Given the description of an element on the screen output the (x, y) to click on. 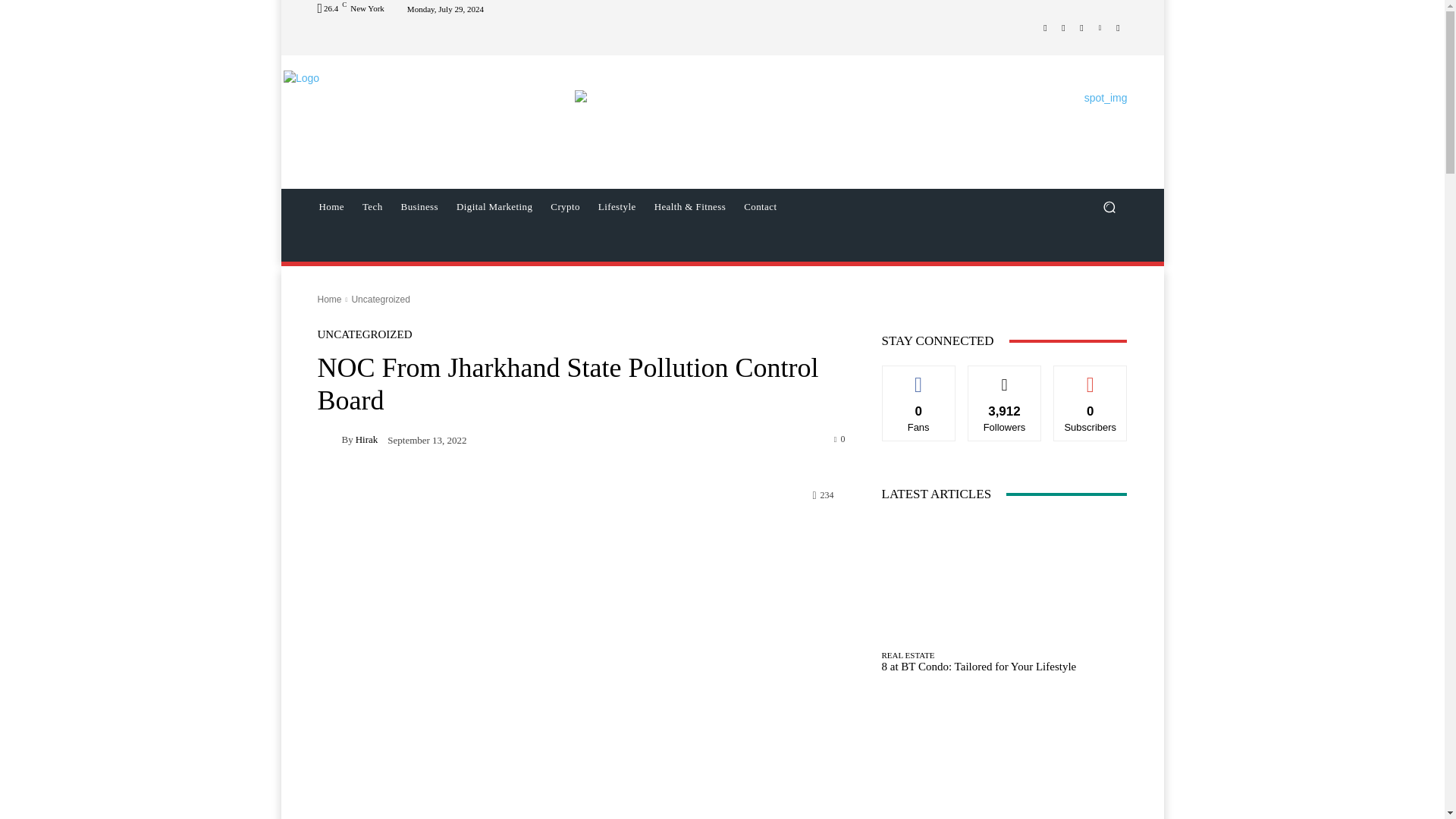
Instagram (1062, 27)
Contact (760, 207)
Hirak (328, 438)
Facebook (1044, 27)
UNCATEGROIZED (364, 334)
Twitter (1080, 27)
Crypto (565, 207)
Tech (372, 207)
Lifestyle (617, 207)
View all posts in Uncategroized (379, 299)
Vimeo (1099, 27)
Home (328, 299)
Youtube (1117, 27)
Digital Marketing (493, 207)
Home (330, 207)
